Given the description of an element on the screen output the (x, y) to click on. 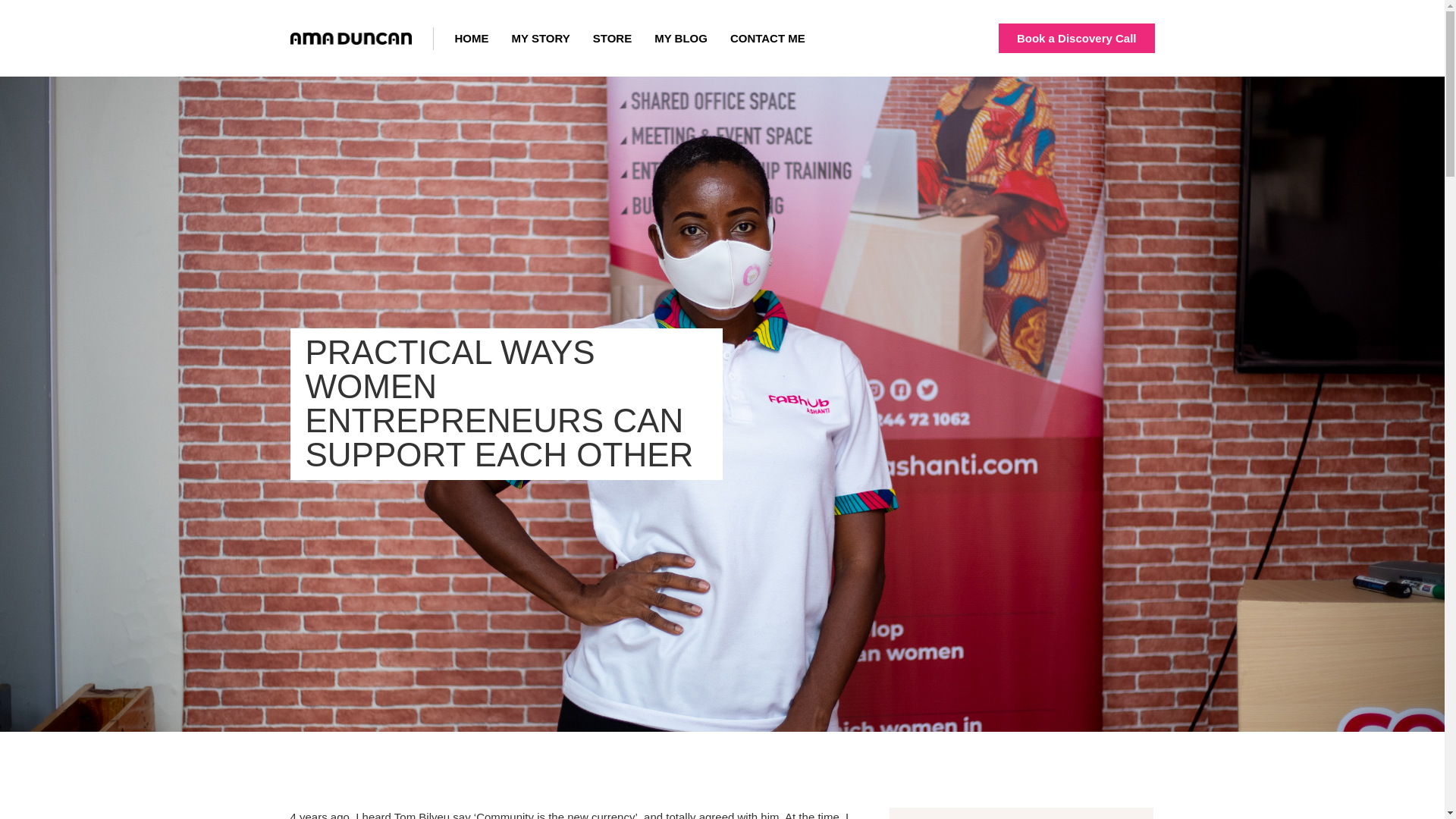
CONTACT ME (767, 37)
MY BLOG (680, 37)
MY STORY (540, 37)
STORE (611, 37)
Book a Discovery Call (1076, 38)
